Given the description of an element on the screen output the (x, y) to click on. 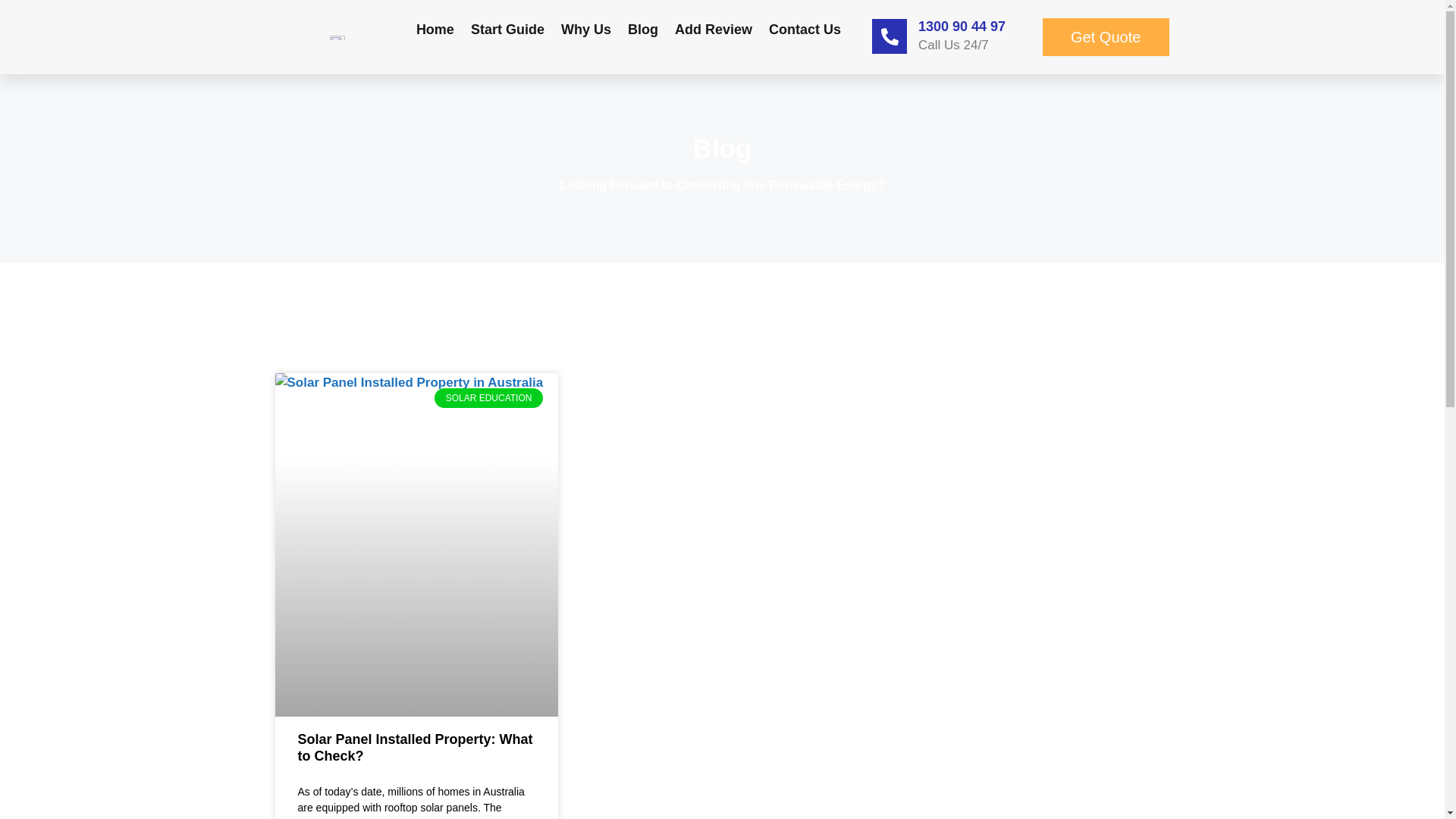
Contact Us Element type: text (804, 29)
Home Element type: text (434, 29)
1300 90 44 97 Element type: text (961, 26)
Get Quote Element type: text (1105, 37)
Solar Panel Installed Property: What to Check? Element type: text (414, 747)
Add Review Element type: text (713, 29)
Why Us Element type: text (585, 29)
Blog Element type: text (642, 29)
Start Guide Element type: text (507, 29)
